Given the description of an element on the screen output the (x, y) to click on. 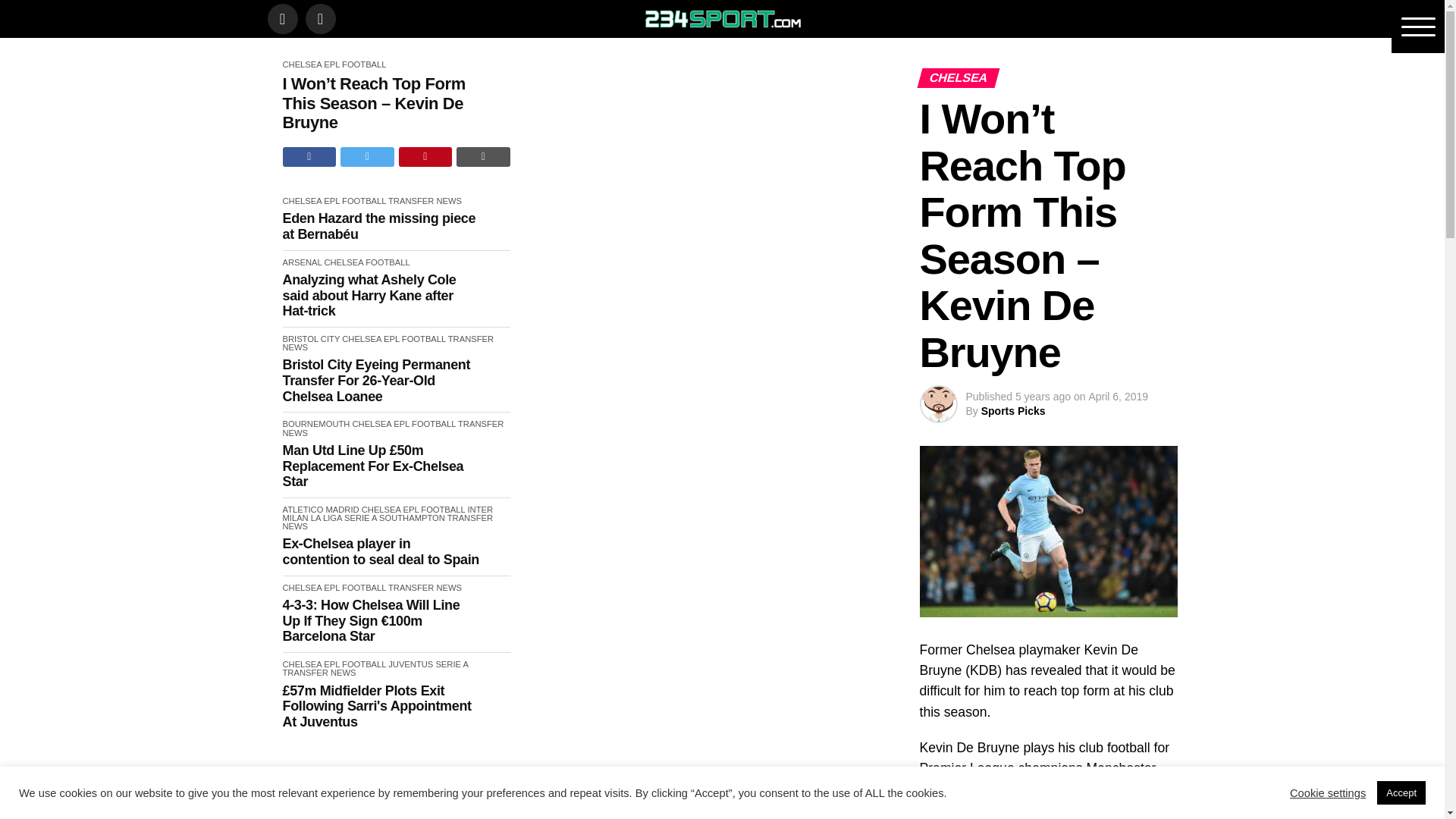
Pin This Post (425, 157)
Share on Facebook (309, 157)
Tweet This Post (367, 157)
